Given the description of an element on the screen output the (x, y) to click on. 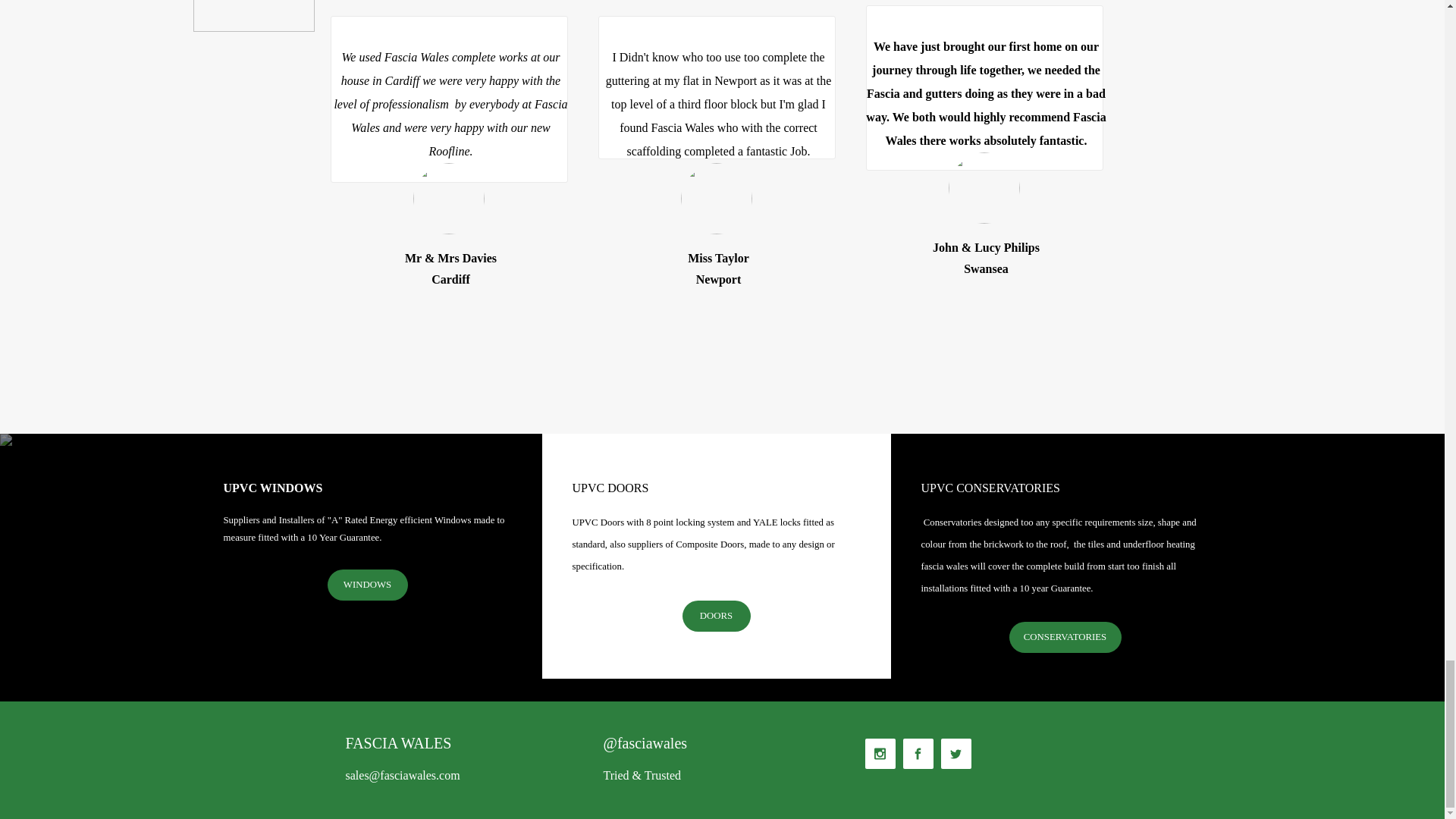
WINDOWS (367, 584)
DOORS (716, 615)
CONSERVATORIES (1065, 636)
